Given the description of an element on the screen output the (x, y) to click on. 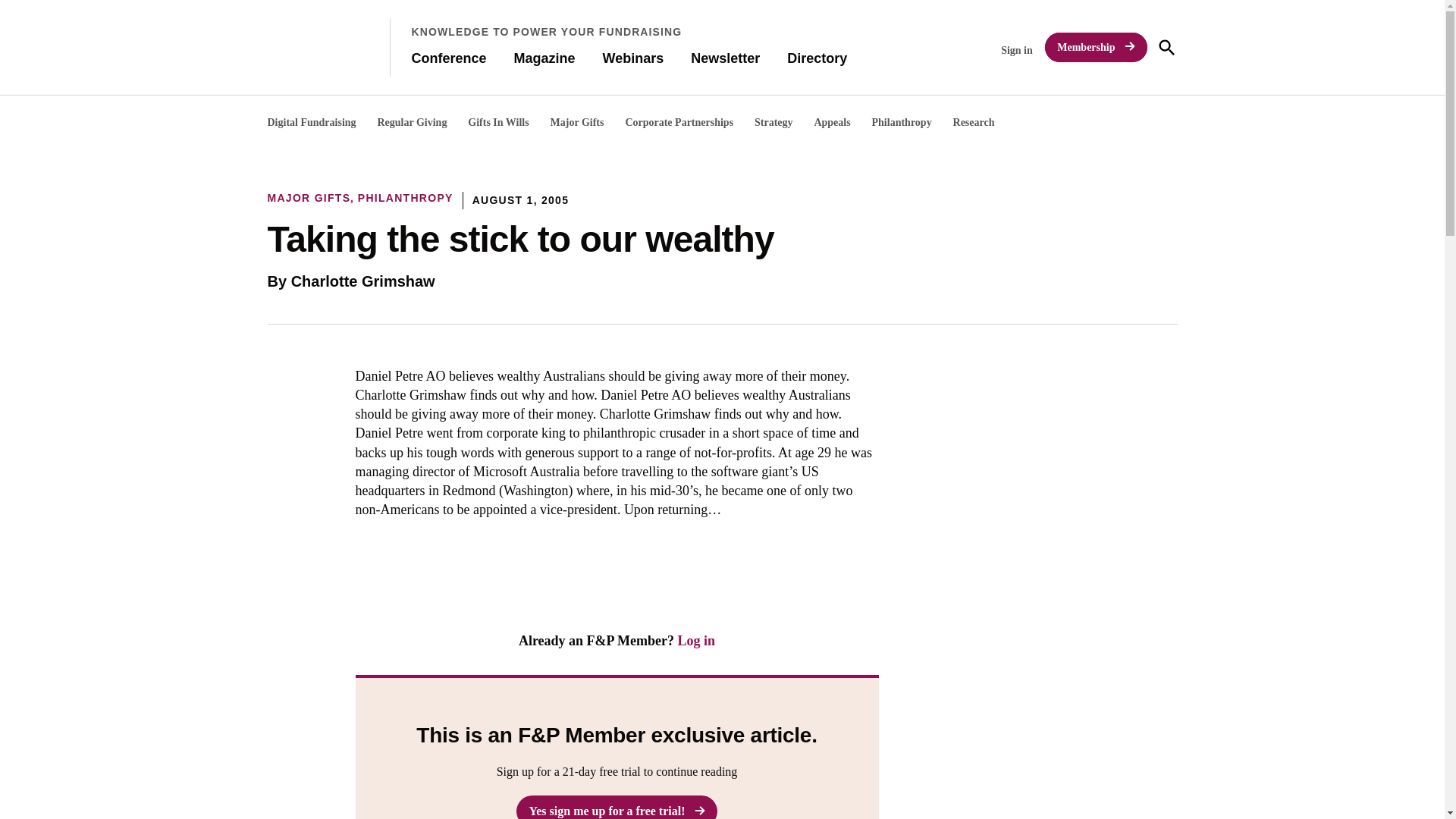
Webinars (632, 58)
Sign in (1016, 49)
Conference (448, 58)
Magazine (544, 58)
Directory (817, 58)
Newsletter (725, 58)
